Given the description of an element on the screen output the (x, y) to click on. 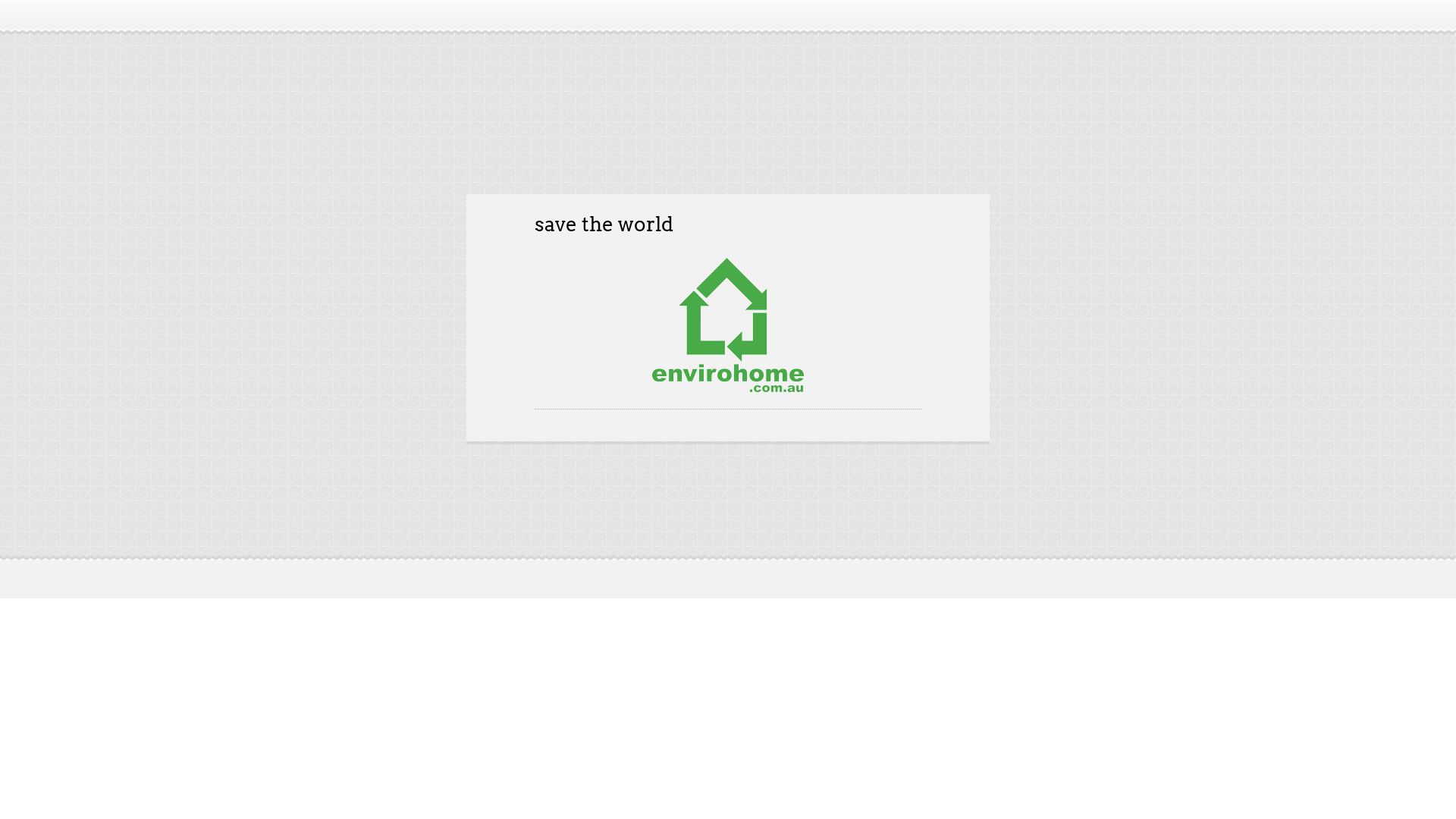
envirohome Element type: text (554, 84)
save the world Element type: text (603, 223)
